Given the description of an element on the screen output the (x, y) to click on. 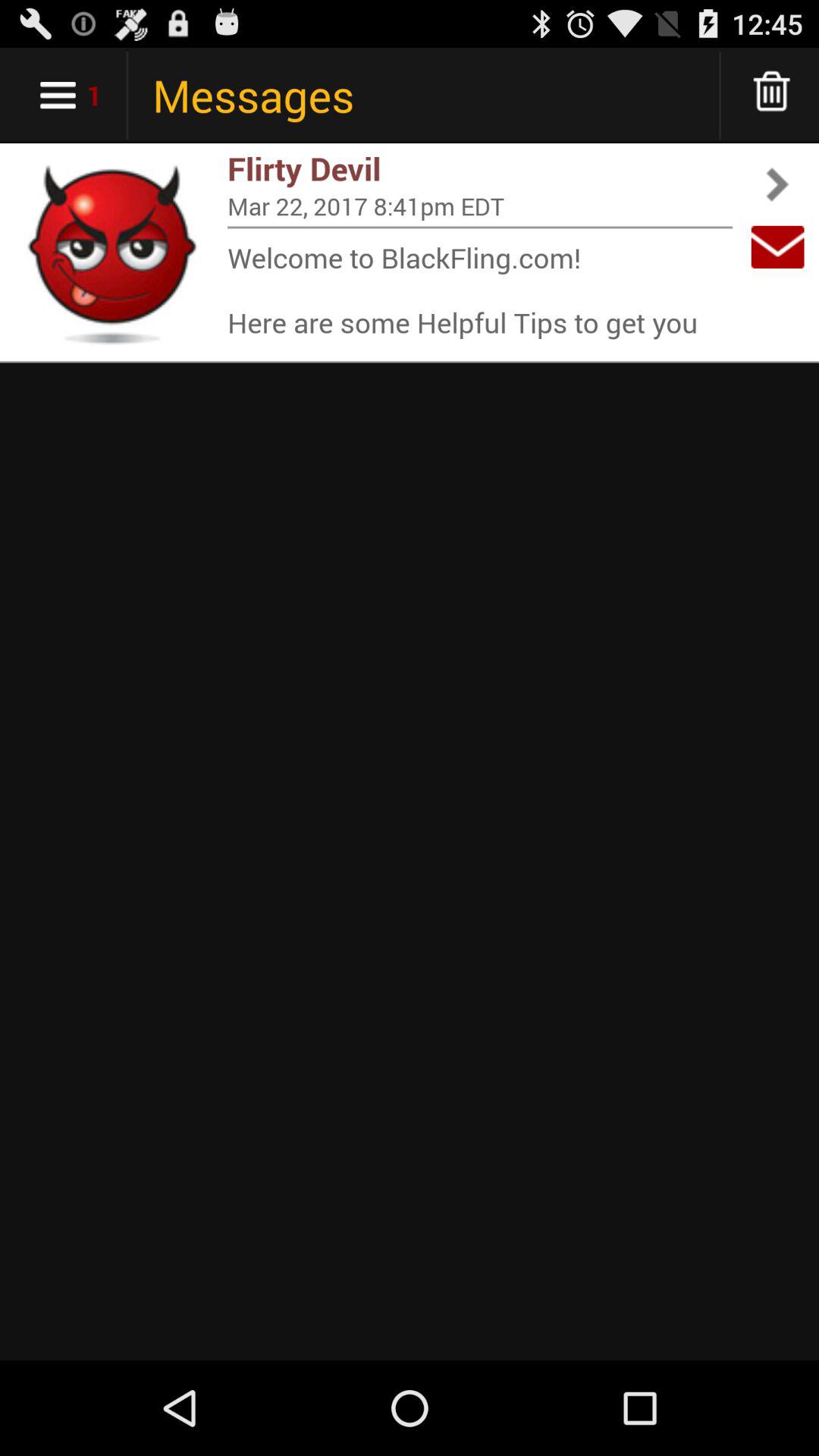
turn off flirty devil app (479, 168)
